Given the description of an element on the screen output the (x, y) to click on. 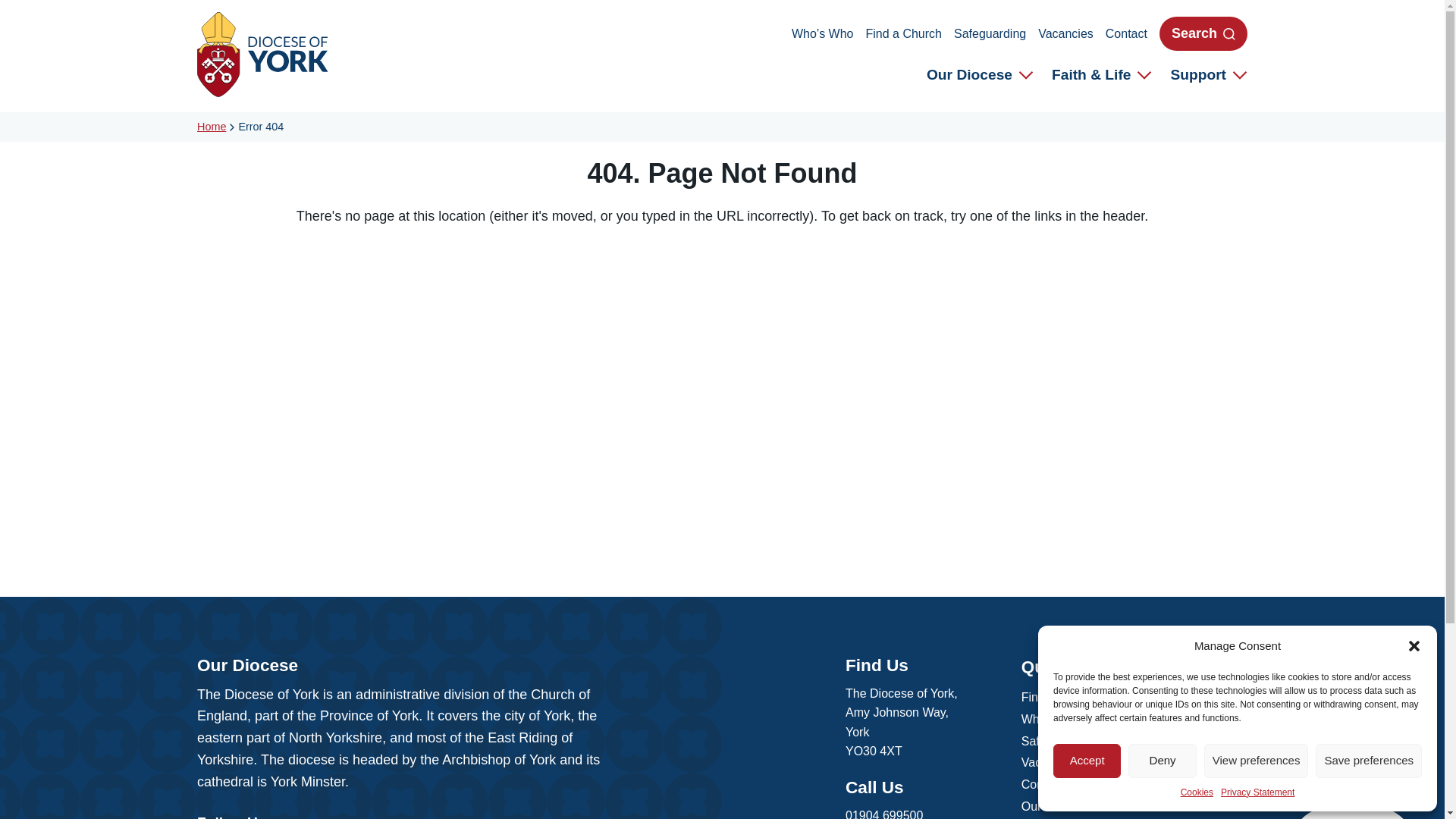
Search (1202, 33)
Cookies (1196, 792)
View preferences (1256, 760)
Safeguarding (989, 33)
Contact (1126, 33)
Vacancies (1065, 33)
Find a Church (903, 33)
Our Diocese (979, 75)
Accept (1086, 760)
Deny (1161, 760)
Privacy Statement (1257, 792)
Save preferences (1369, 760)
